Given the description of an element on the screen output the (x, y) to click on. 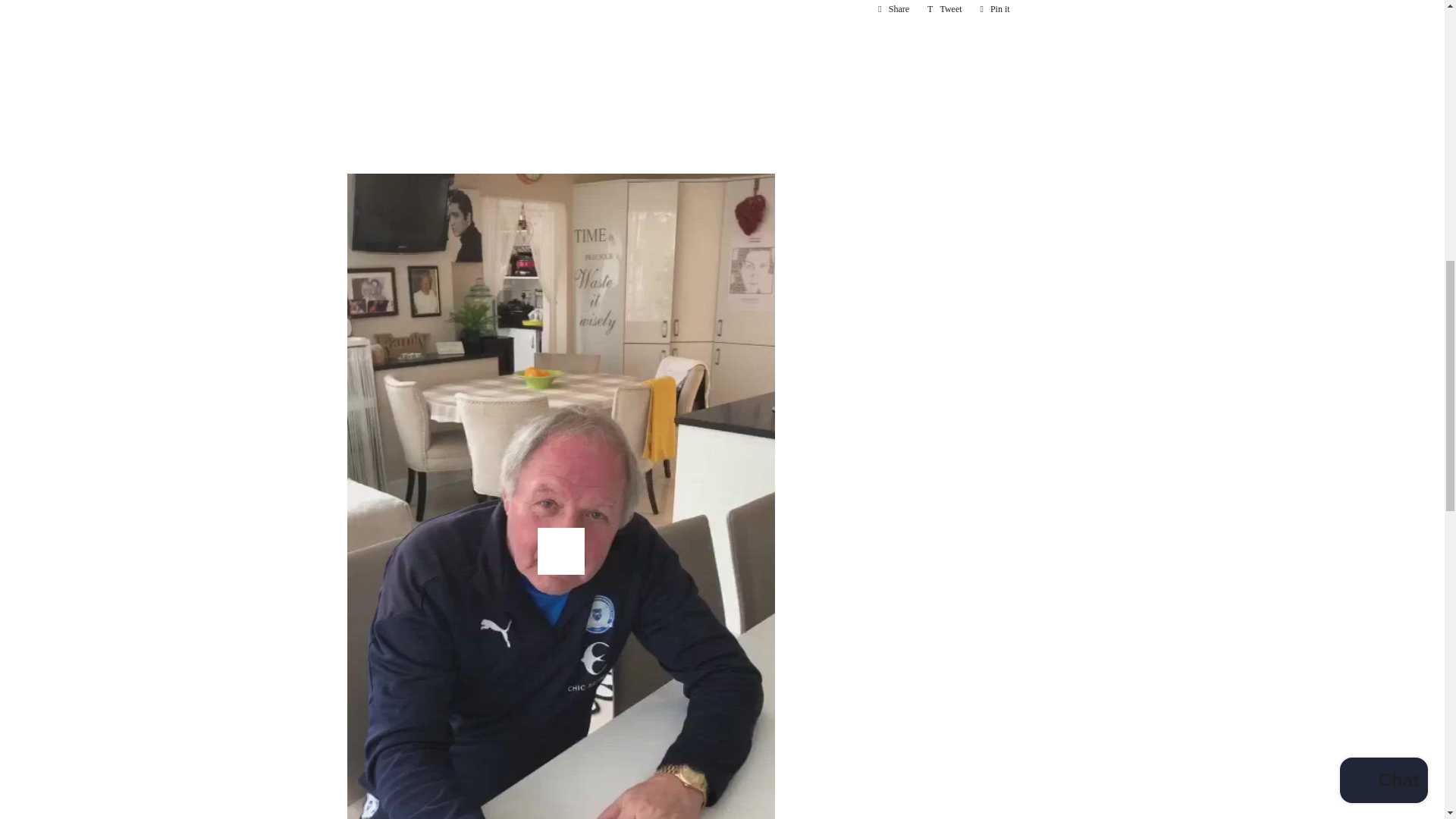
Pin on Pinterest (994, 8)
Share on Facebook (893, 8)
Tweet on Twitter (944, 8)
